Given the description of an element on the screen output the (x, y) to click on. 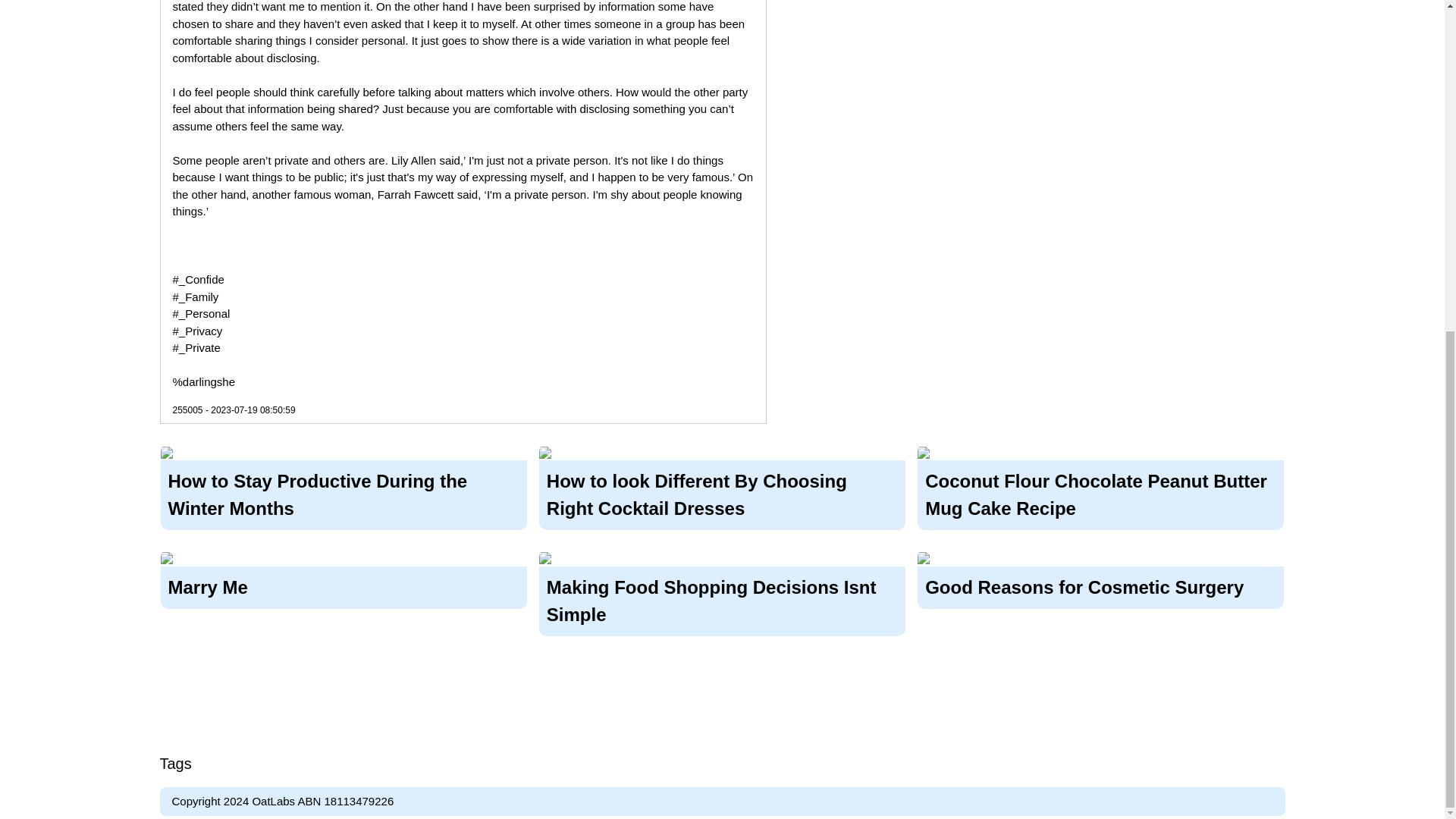
Making Food Shopping Decisions Isnt Simple (721, 597)
How to look Different By Choosing Right Cocktail Dresses (721, 492)
How to Stay Productive During the Winter Months (343, 492)
Good Reasons for Cosmetic Surgery (1100, 583)
Coconut Flour Chocolate Peanut Butter Mug Cake Recipe (1100, 492)
Marry Me (343, 583)
